Given the description of an element on the screen output the (x, y) to click on. 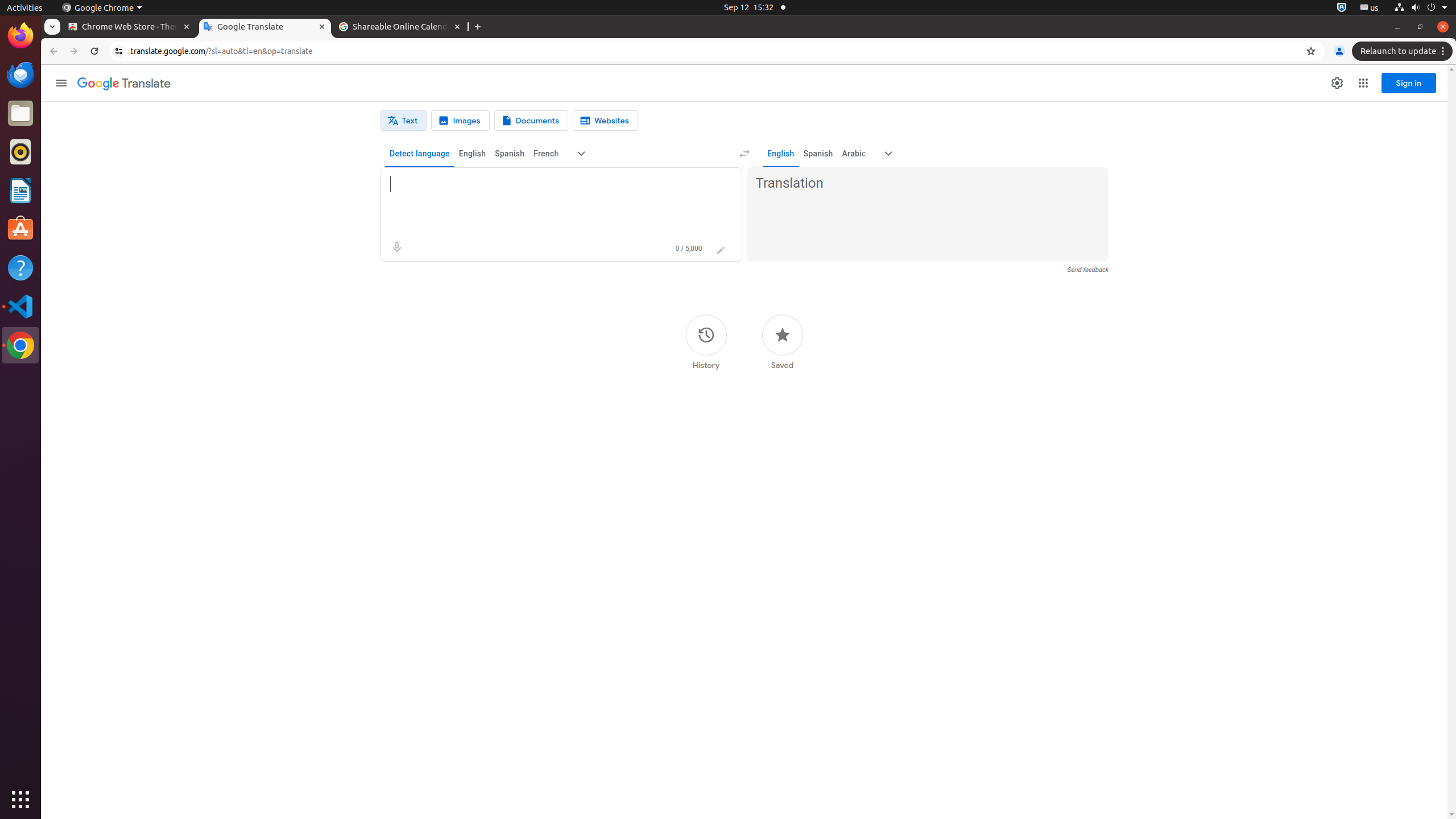
Main menu Element type: push-button (61, 82)
Google Chrome Element type: menu (101, 7)
Ubuntu Software Element type: push-button (20, 229)
Rhythmbox Element type: push-button (20, 151)
You Element type: push-button (1339, 50)
